Given the description of an element on the screen output the (x, y) to click on. 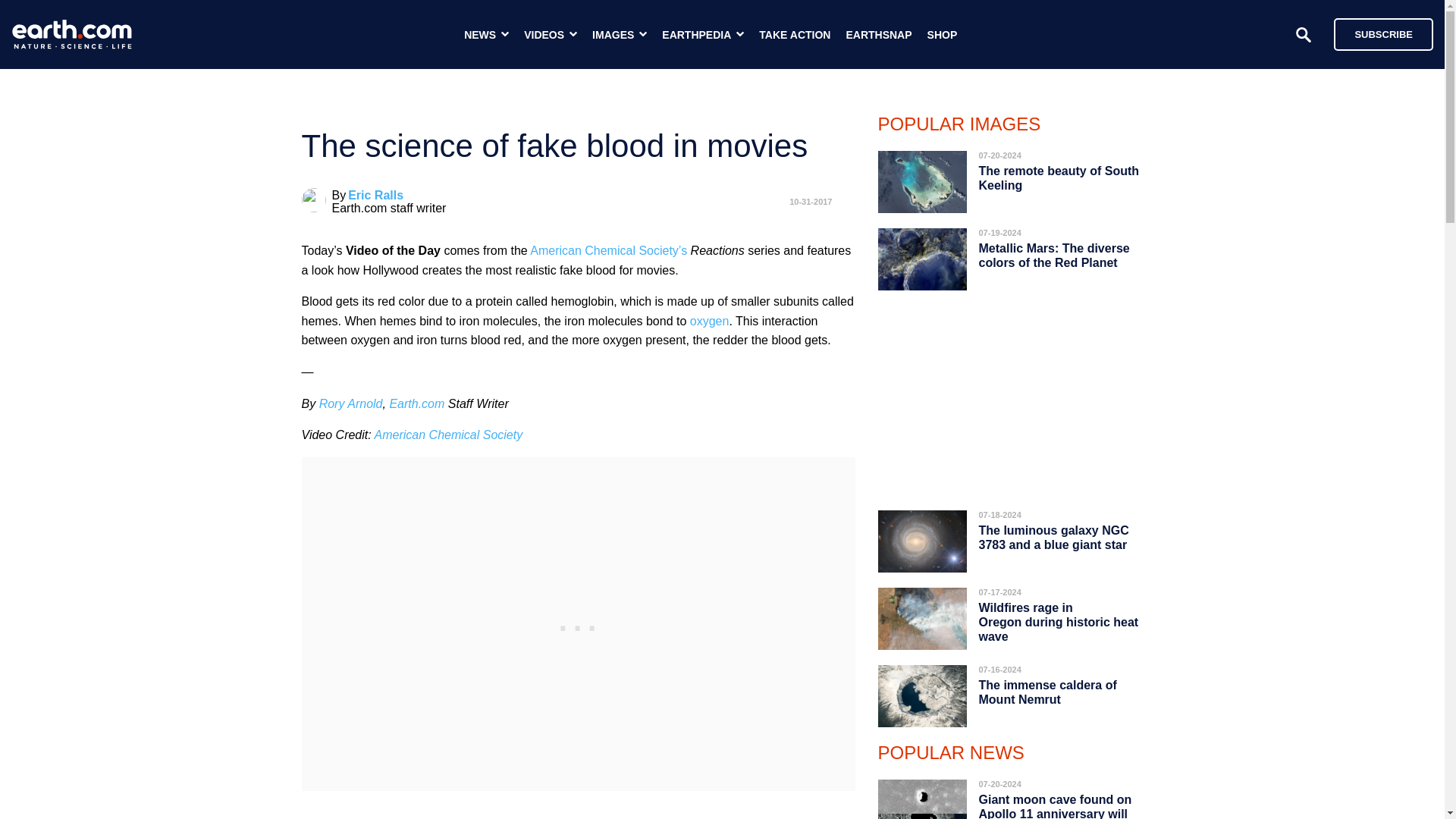
TAKE ACTION (793, 34)
oxygen (709, 320)
The luminous galaxy NGC 3783 and a blue giant star (1053, 537)
EARTHSNAP (878, 34)
Metallic Mars: The diverse colors of the Red Planet (1053, 255)
Rory Arnold (350, 403)
Earth.com (416, 403)
American Chemical Society (448, 434)
SHOP (942, 34)
Wildfires rage in Oregon during historic heat wave (1058, 621)
The remote beauty of South Keeling (1058, 177)
Eric Ralls (375, 195)
The immense caldera of Mount Nemrut  (1047, 691)
SUBSCRIBE (1382, 34)
